Given the description of an element on the screen output the (x, y) to click on. 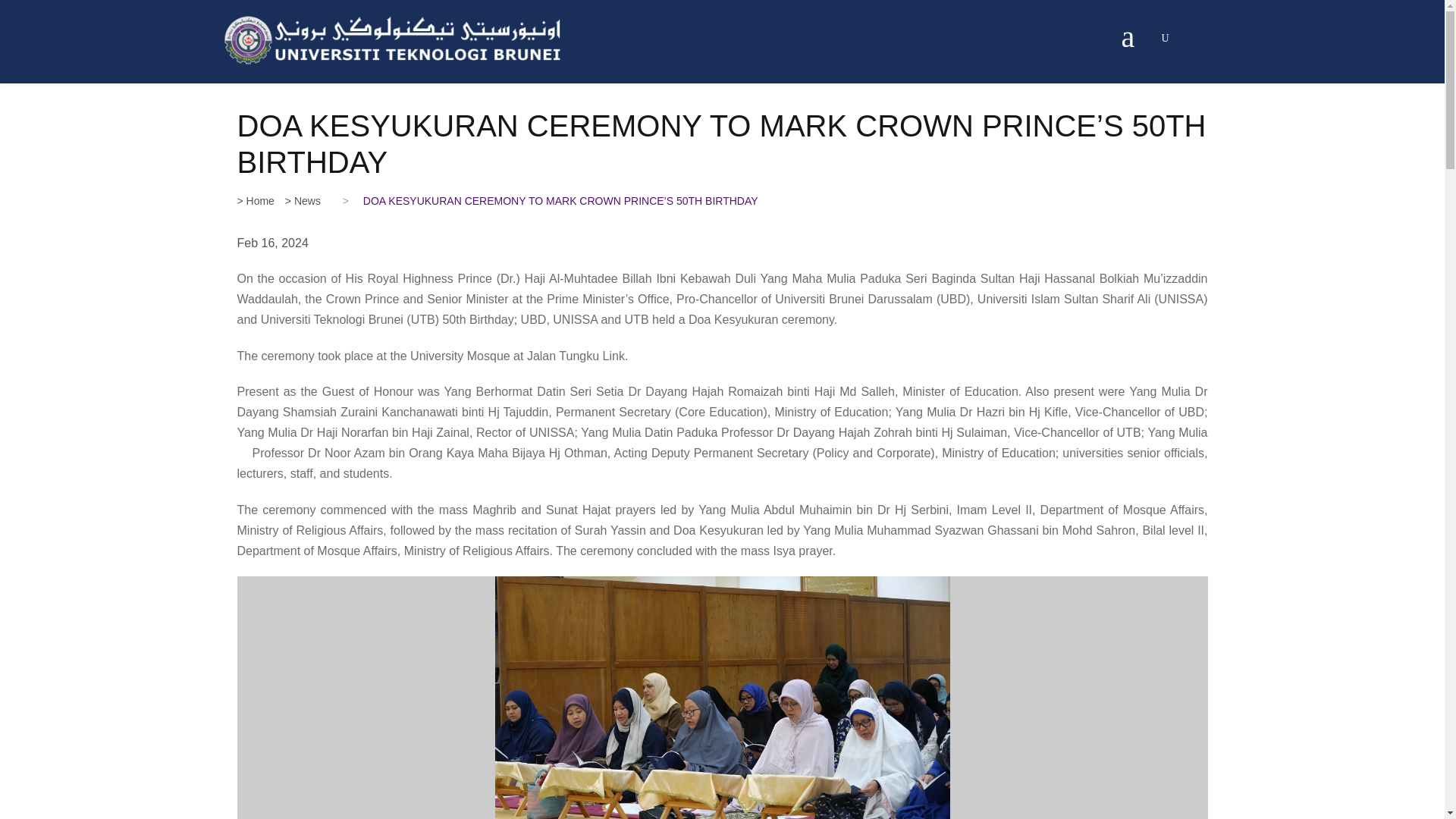
News (302, 200)
Home (254, 200)
